Given the description of an element on the screen output the (x, y) to click on. 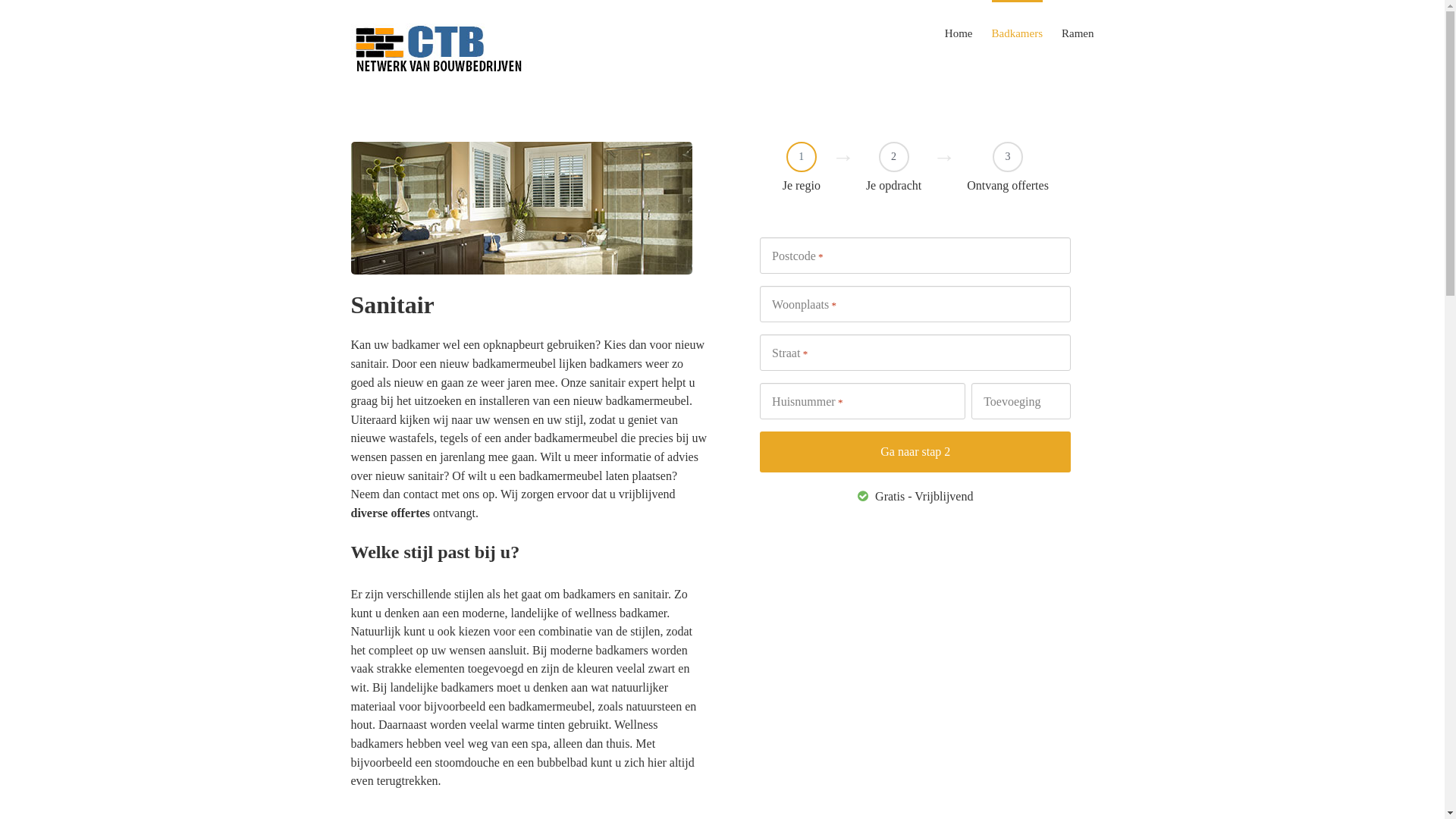
Home Element type: text (958, 32)
Ramen Element type: text (1077, 32)
Badkamers Element type: text (1016, 32)
Ga naar stap 2 Element type: text (914, 451)
